Given the description of an element on the screen output the (x, y) to click on. 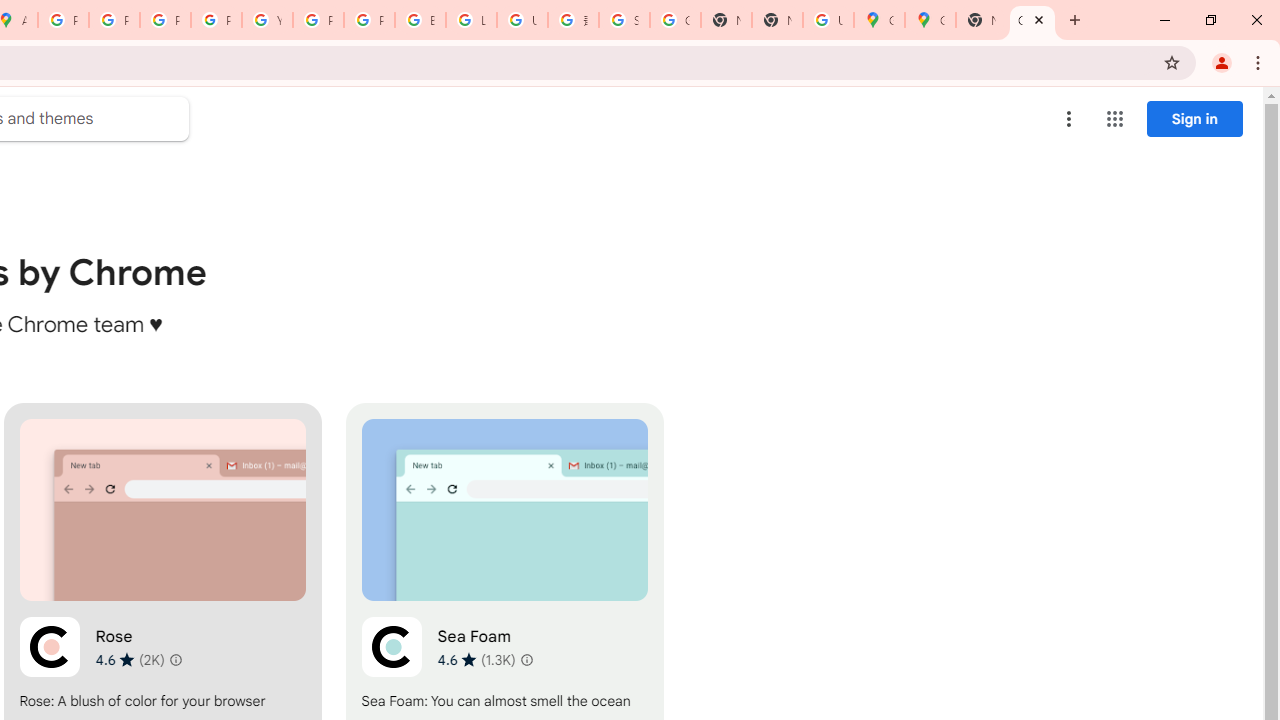
Chrome Web Store - Color themes by Chrome (1032, 20)
Privacy Help Center - Policies Help (113, 20)
Average rating 4.6 out of 5 stars. 1.3K ratings. (475, 659)
Google Maps (878, 20)
Privacy Help Center - Policies Help (164, 20)
New Tab (981, 20)
